Given the description of an element on the screen output the (x, y) to click on. 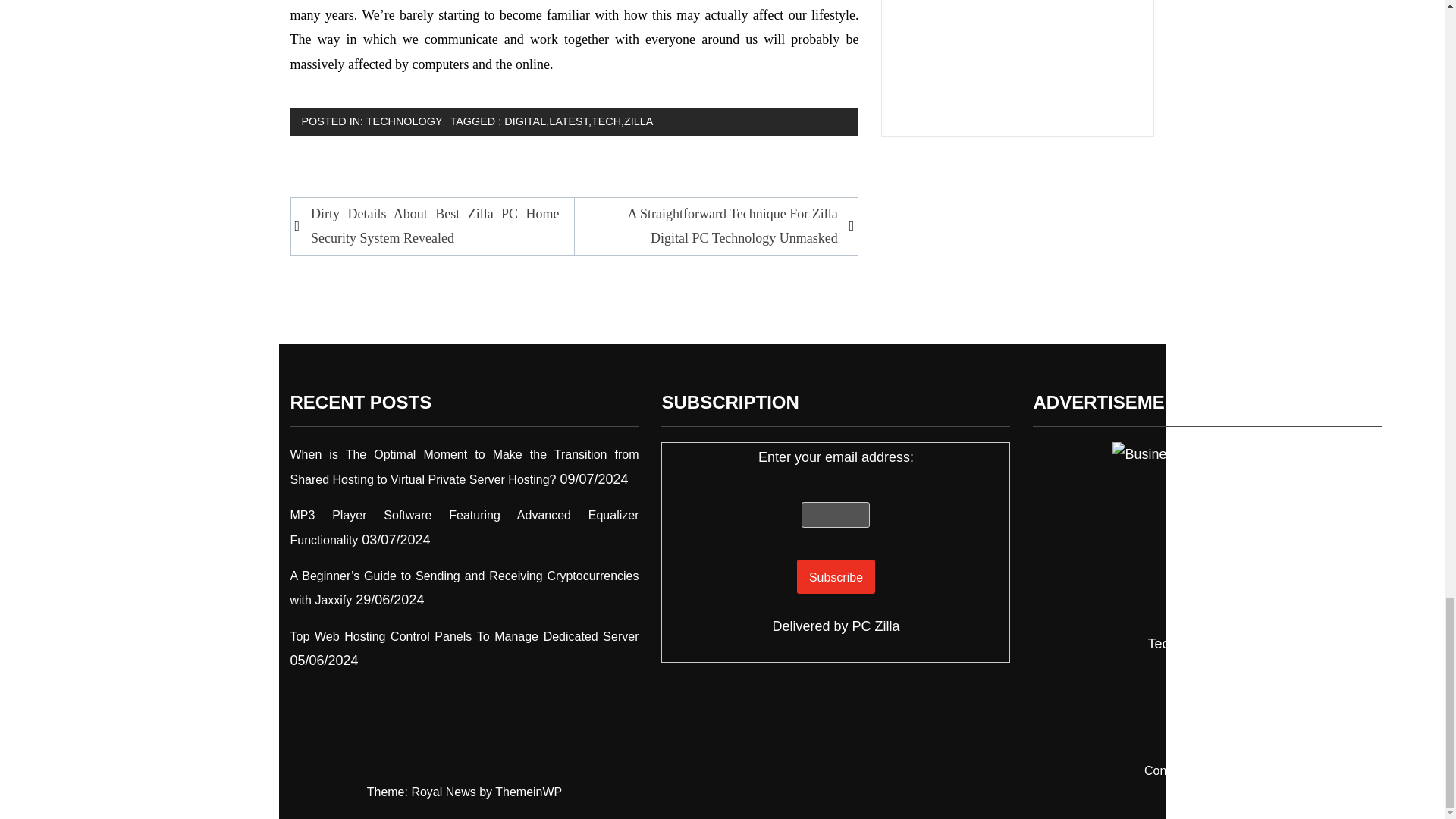
Subscribe (835, 576)
Business Talk (1206, 536)
